Given the description of an element on the screen output the (x, y) to click on. 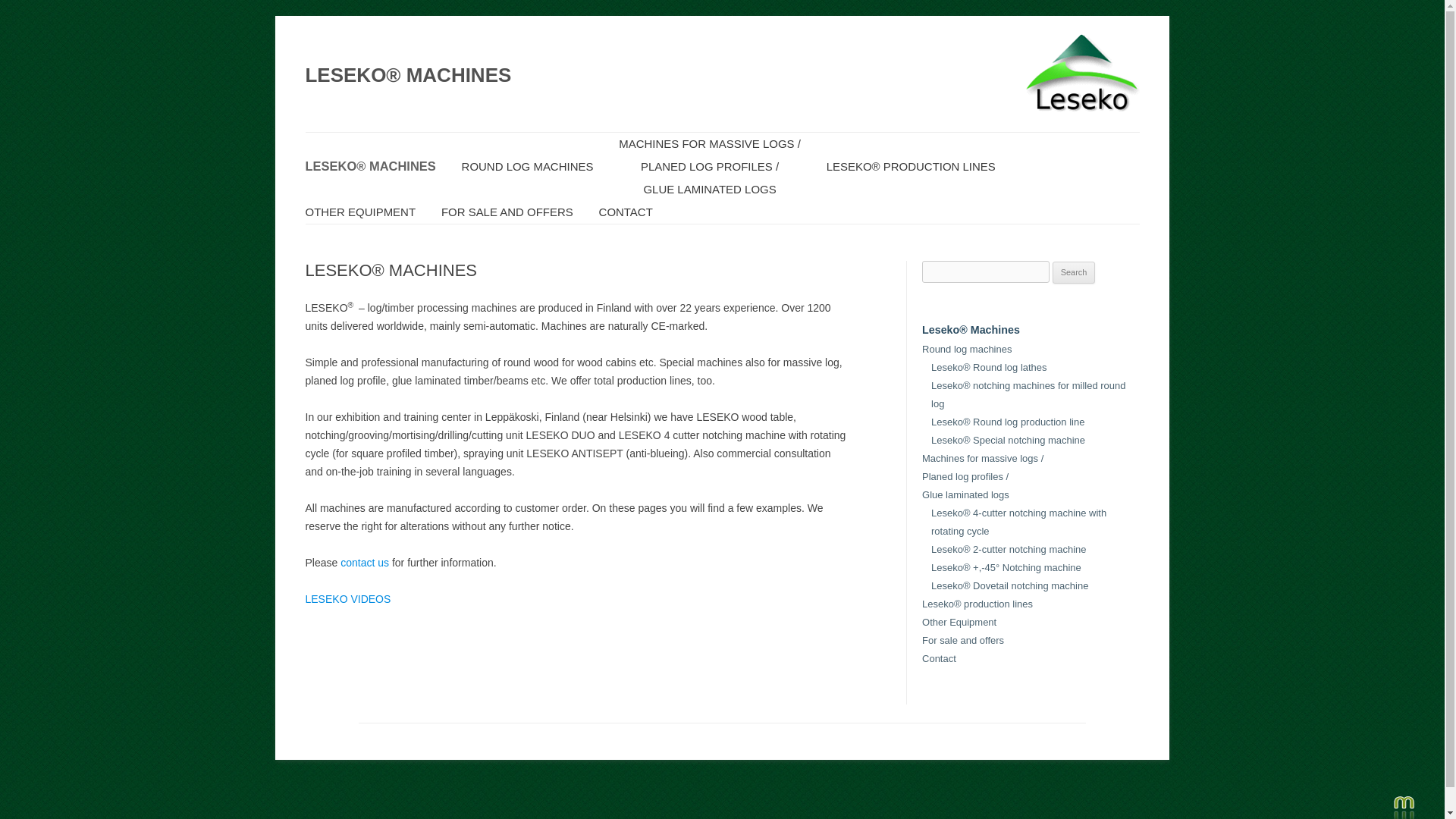
Contact (938, 658)
LESEKO VIDEOS (347, 598)
FOR SALE AND OFFERS (507, 211)
Skip to content (757, 136)
Search (1074, 272)
For sale and offers (962, 640)
Contact (364, 562)
Kotisivujen suunnittelua (1403, 807)
OTHER EQUIPMENT (359, 211)
Round log machines (966, 348)
